Given the description of an element on the screen output the (x, y) to click on. 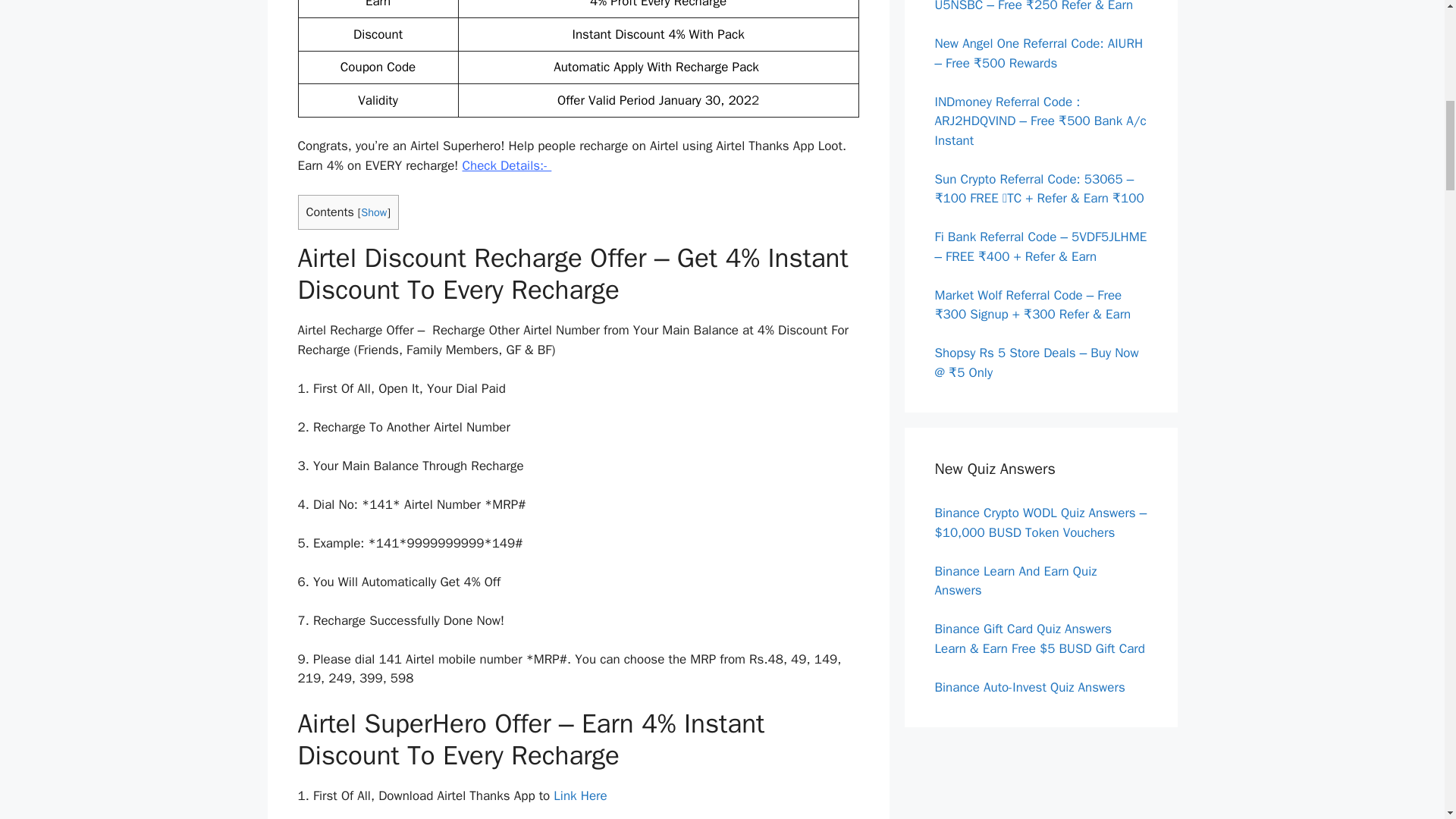
Show (374, 212)
Link Here (580, 795)
Scroll back to top (1406, 720)
